Given the description of an element on the screen output the (x, y) to click on. 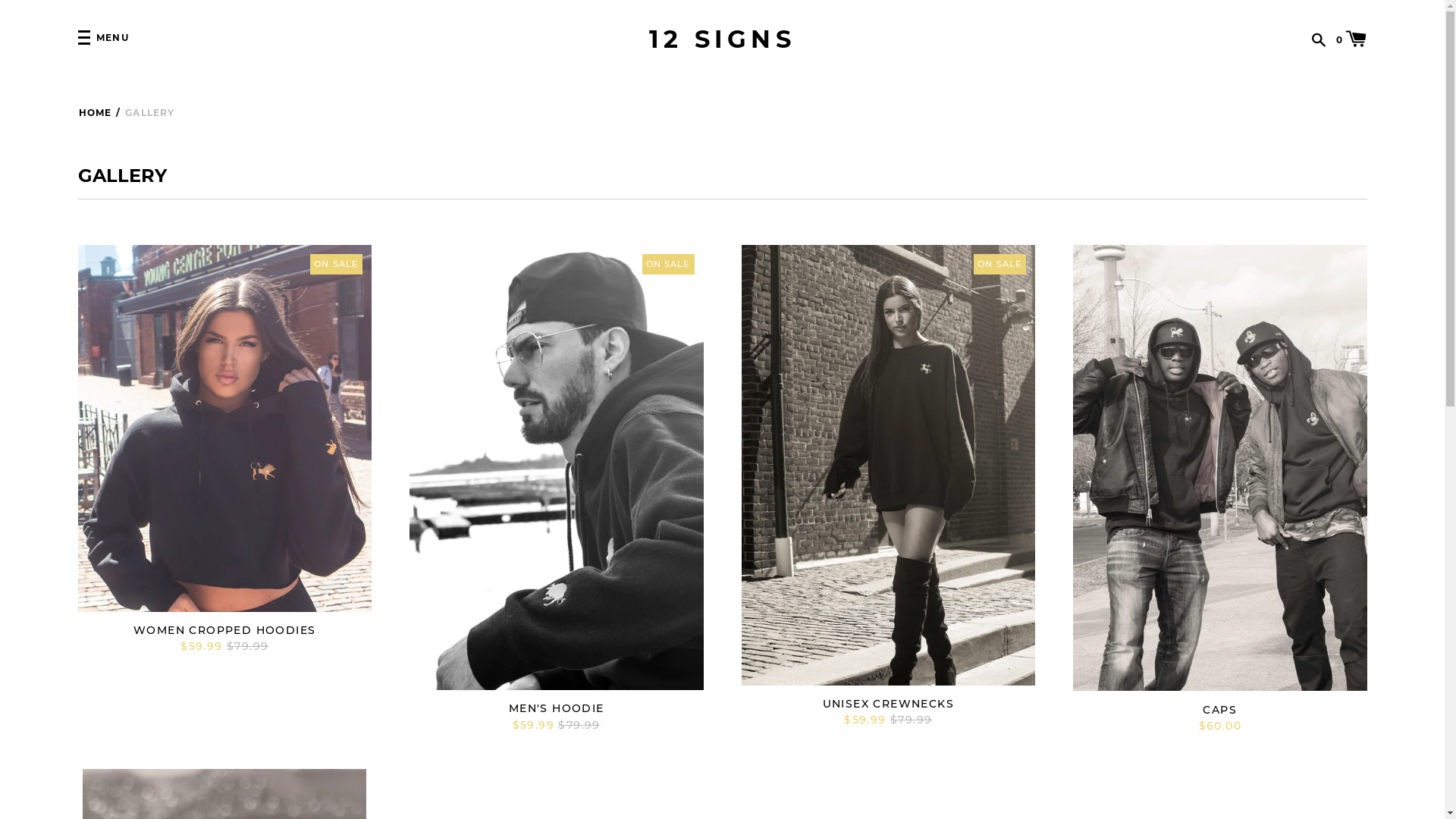
CAPS
$60.00 Element type: text (1220, 489)
MENU Element type: text (102, 38)
ON SALE
MEN'S HOODIE
$59.99
REGULAR PRICE
$79.99 Element type: text (556, 489)
HOME Element type: text (94, 112)
12 SIGNS Element type: text (722, 39)
ON SALE
WOMEN CROPPED HOODIES
$59.99
REGULAR PRICE
$79.99 Element type: text (224, 449)
0 Element type: text (1351, 37)
ON SALE
UNISEX CREWNECKS
$59.99
REGULAR PRICE
$79.99 Element type: text (888, 486)
